Given the description of an element on the screen output the (x, y) to click on. 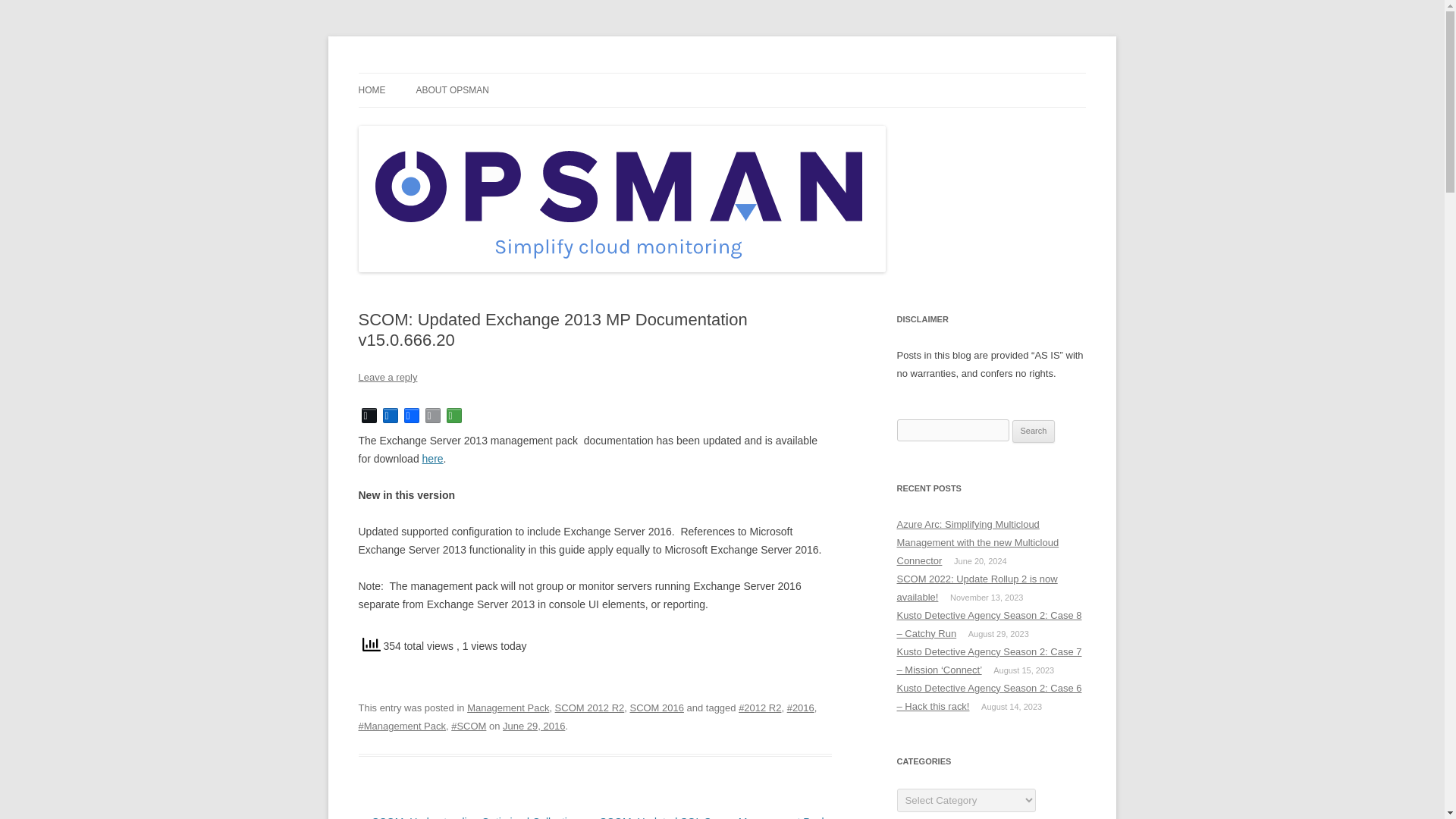
LinkedIn (389, 414)
Email This (432, 414)
June 29, 2016 (533, 726)
More Options (453, 414)
ABOUT OPSMAN (450, 90)
Search (1033, 431)
SCOM 2012 R2 (589, 707)
5:40 am (533, 726)
